Given the description of an element on the screen output the (x, y) to click on. 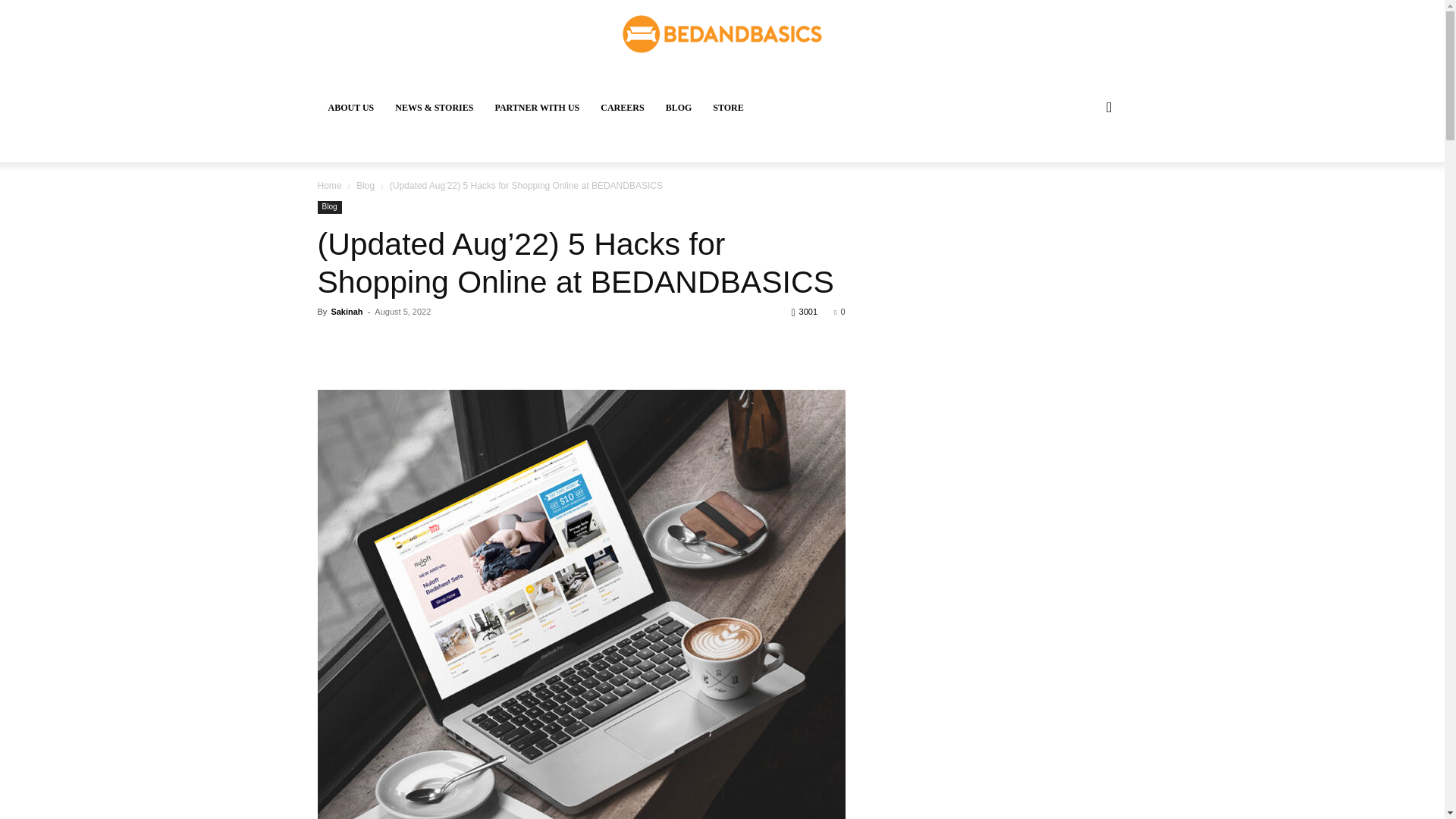
ABOUT US (350, 107)
BLOG (679, 107)
STORE (727, 107)
Sakinah (346, 311)
0 (839, 311)
Home (328, 185)
Blog (328, 206)
CAREERS (621, 107)
PARTNER WITH US (536, 107)
BEDANDBASICS (722, 34)
